Given the description of an element on the screen output the (x, y) to click on. 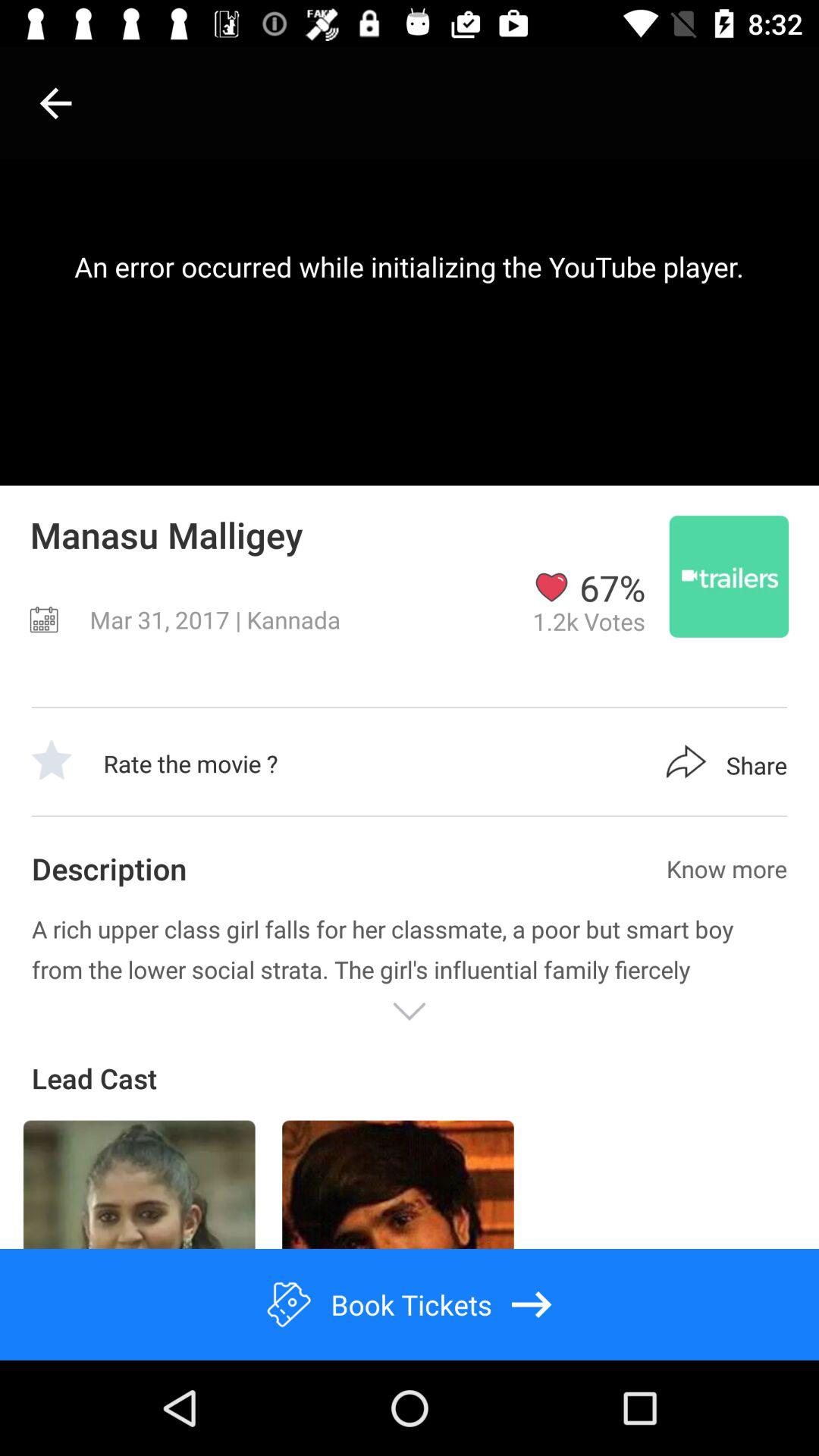
click down arrow option (409, 1011)
